Given the description of an element on the screen output the (x, y) to click on. 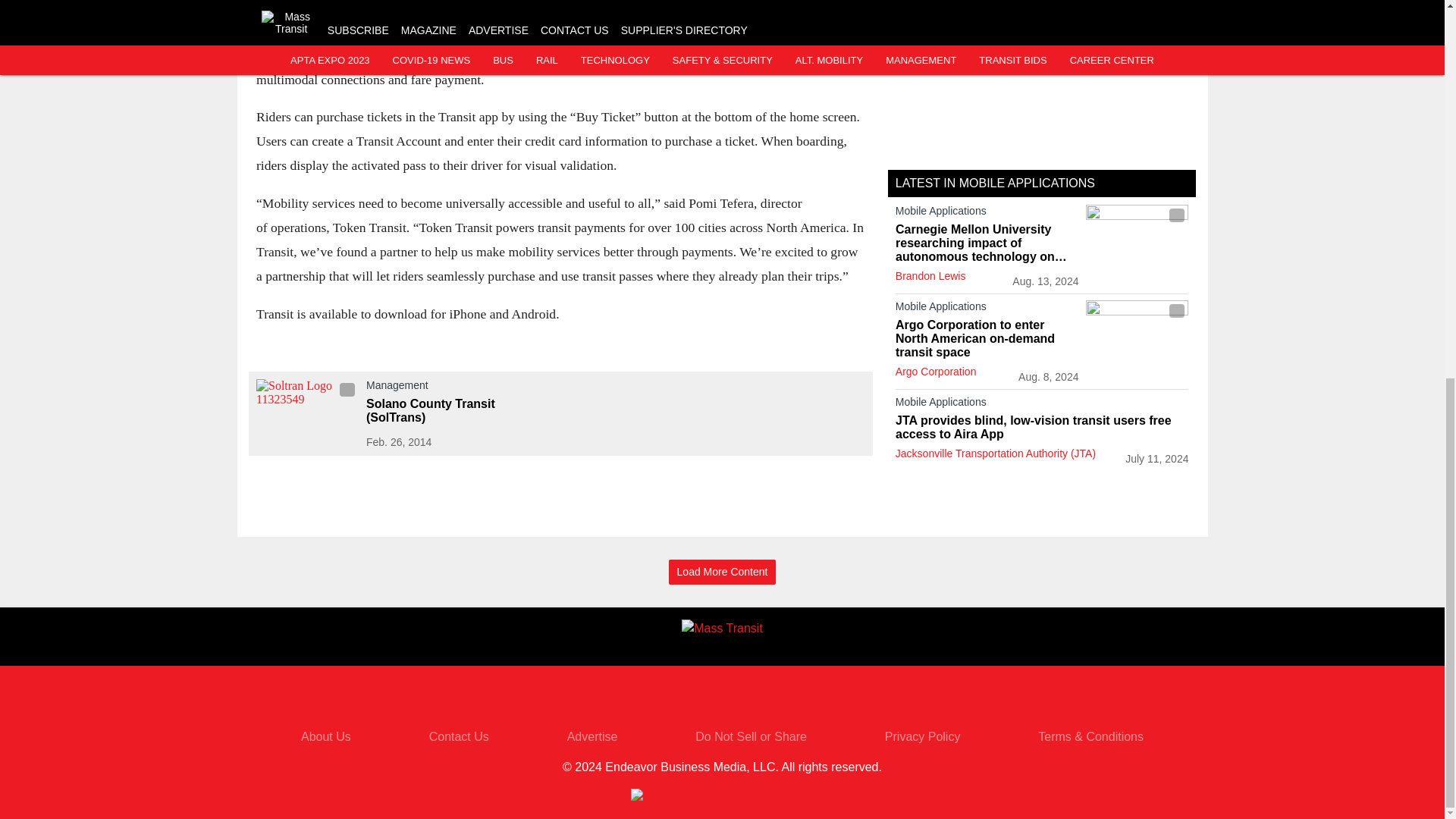
Mobile Applications (986, 309)
Brandon Lewis (930, 275)
Mobile Applications (986, 213)
Soltran Logo 11323549 (307, 407)
LATEST IN MOBILE APPLICATIONS (994, 182)
Mobile Applications (1042, 404)
Management (459, 388)
Argo Corporation (935, 371)
